Given the description of an element on the screen output the (x, y) to click on. 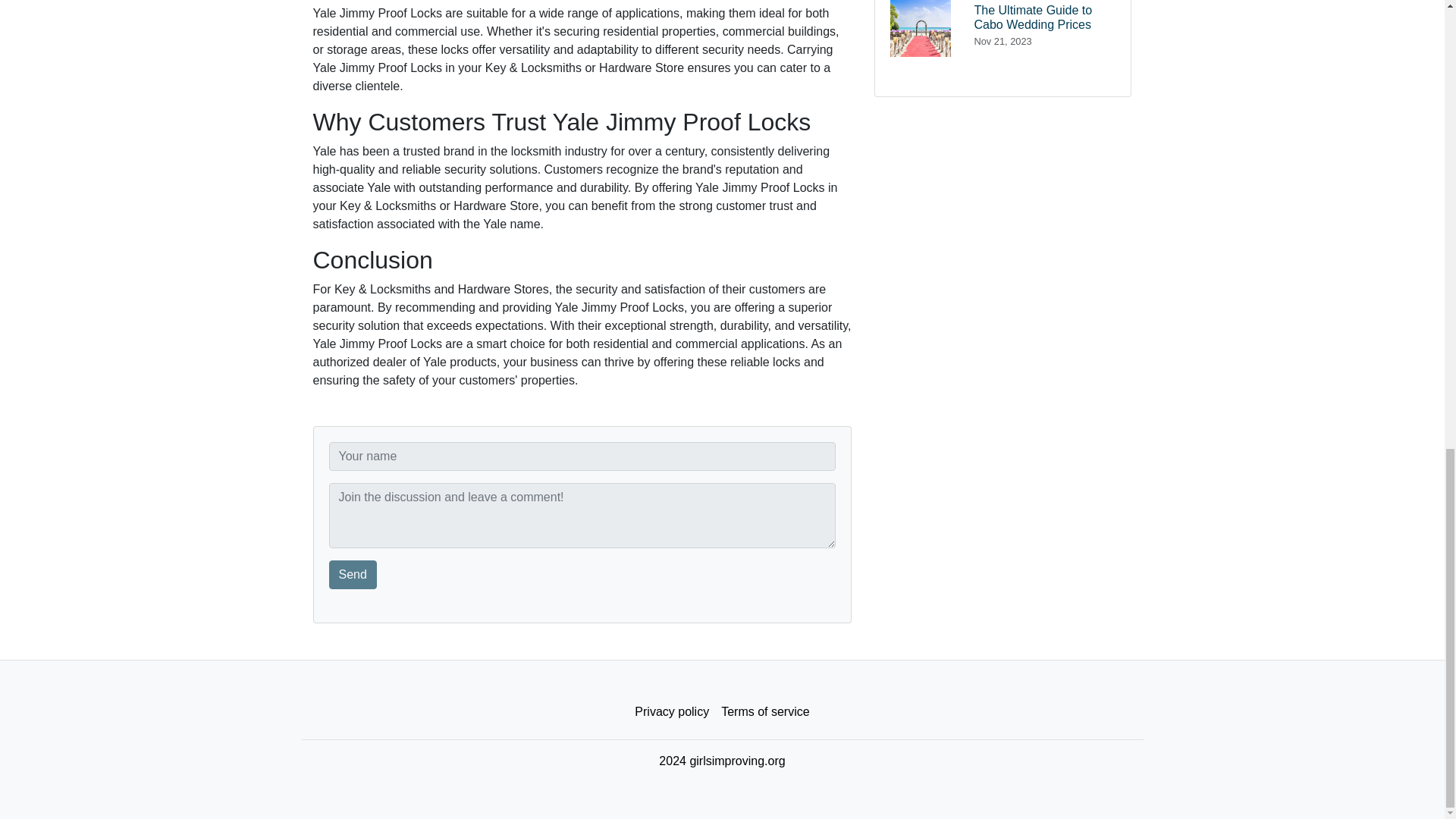
Send (1002, 34)
Terms of service (353, 574)
Privacy policy (764, 711)
Send (671, 711)
